Given the description of an element on the screen output the (x, y) to click on. 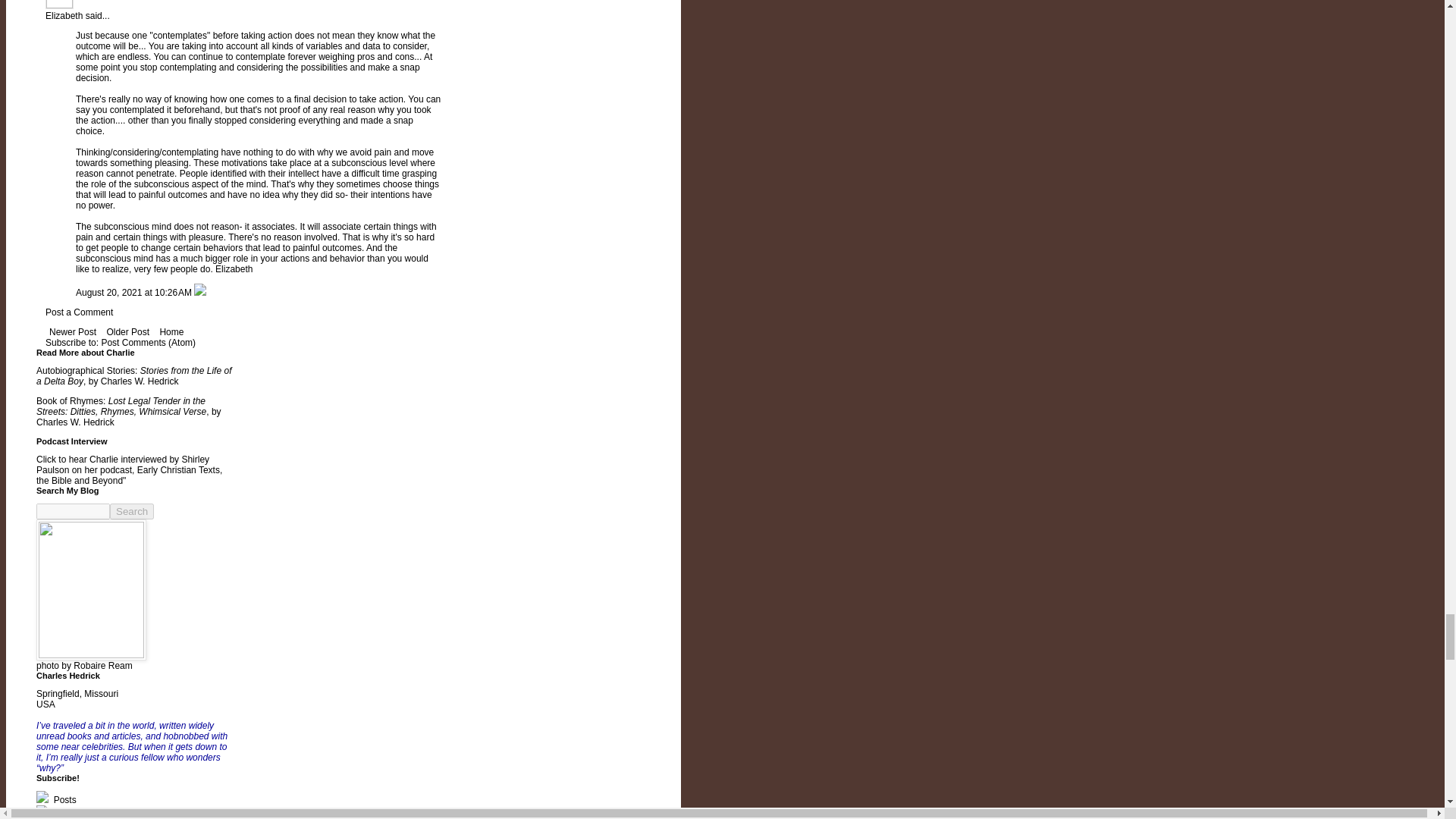
Search (132, 511)
Search (132, 511)
